Given the description of an element on the screen output the (x, y) to click on. 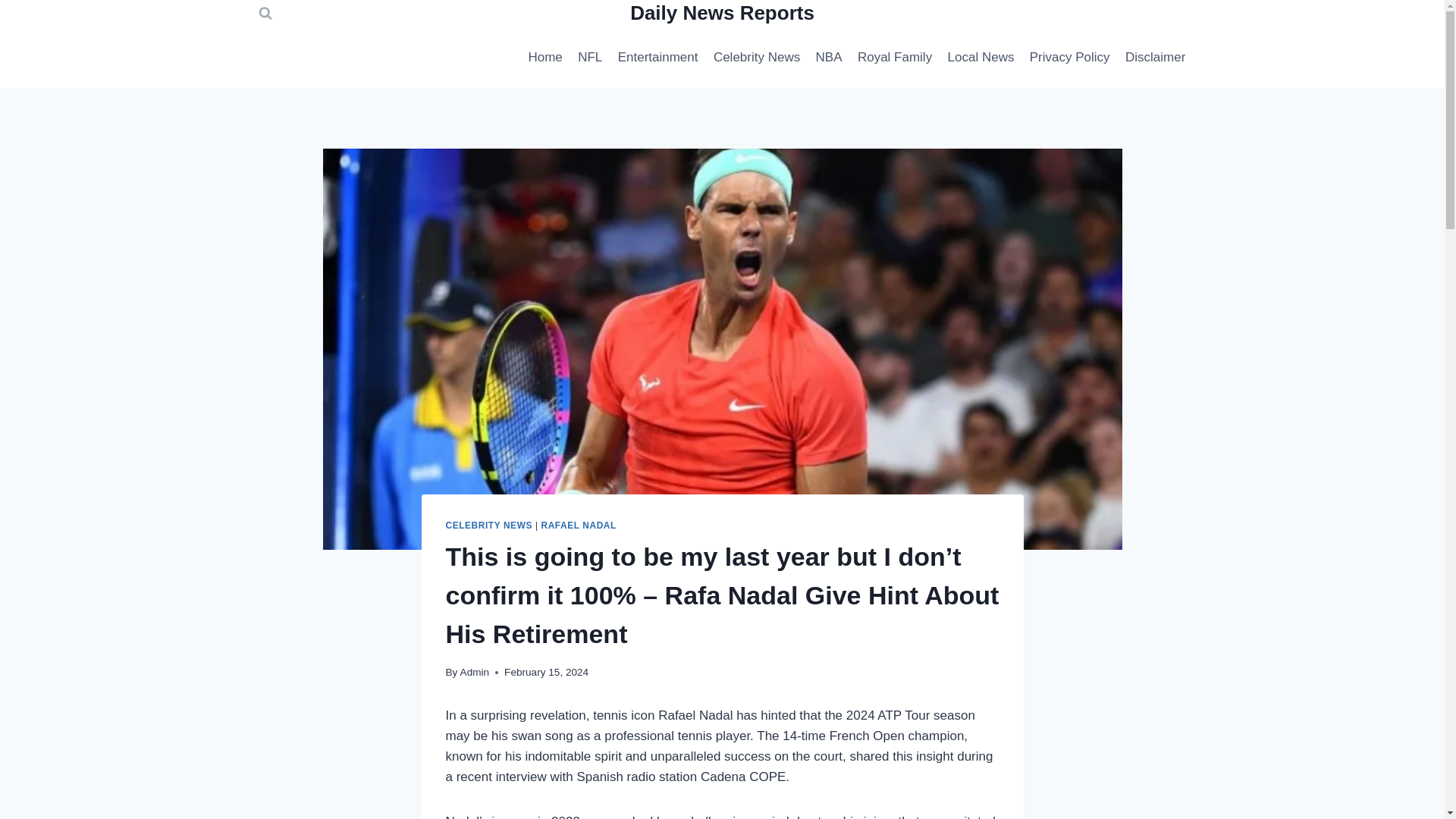
NBA (828, 57)
RAFAEL NADAL (577, 525)
Privacy Policy (1070, 57)
Daily News Reports (721, 13)
Disclaimer (1155, 57)
Royal Family (895, 57)
Celebrity News (757, 57)
Local News (980, 57)
CELEBRITY NEWS (488, 525)
Entertainment (657, 57)
NFL (590, 57)
Admin (474, 672)
Home (544, 57)
